Given the description of an element on the screen output the (x, y) to click on. 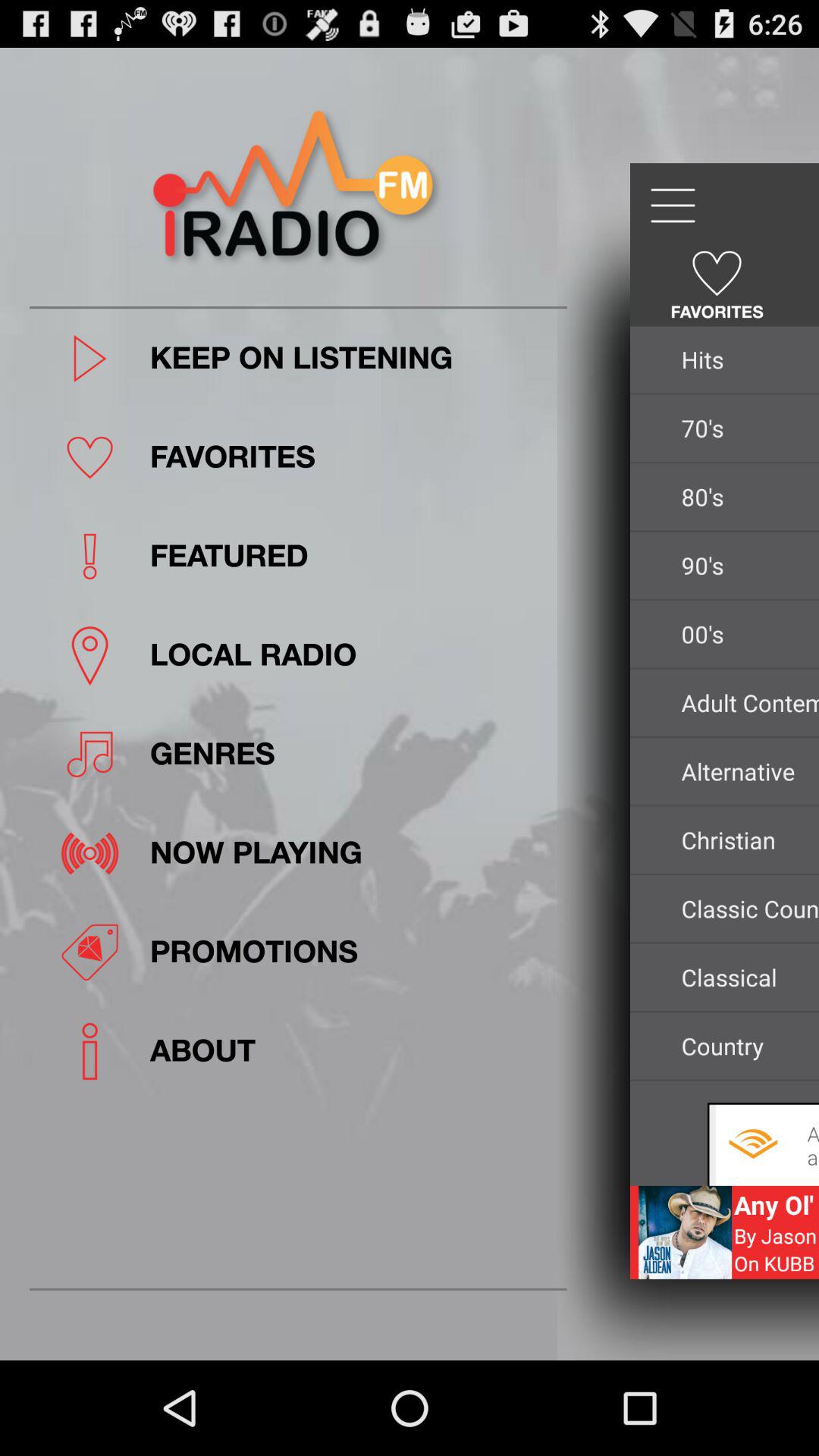
click classical (745, 977)
